Given the description of an element on the screen output the (x, y) to click on. 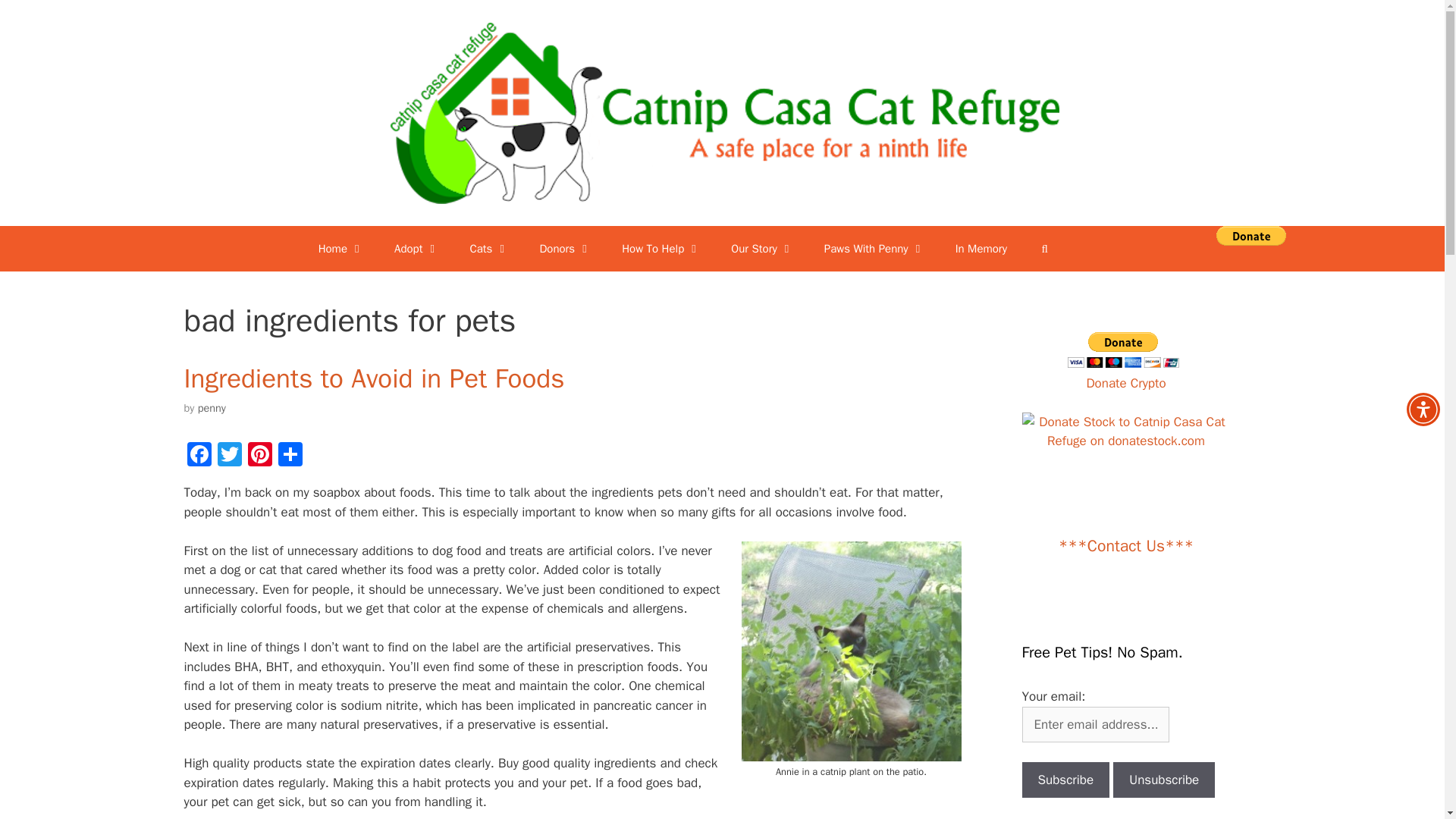
Donate Stock to Catnip Casa Cat Refuge on donatestock.com (1126, 431)
Subscribe (1065, 780)
Cats (489, 248)
Adopt (416, 248)
Paws With Penny (874, 248)
Donate Stock to Catnip Casa Cat Refuge on donatestock.com (1126, 440)
How To Help (661, 248)
Accessibility Menu (1422, 409)
Home (340, 248)
Enter email address... (1095, 724)
